Given the description of an element on the screen output the (x, y) to click on. 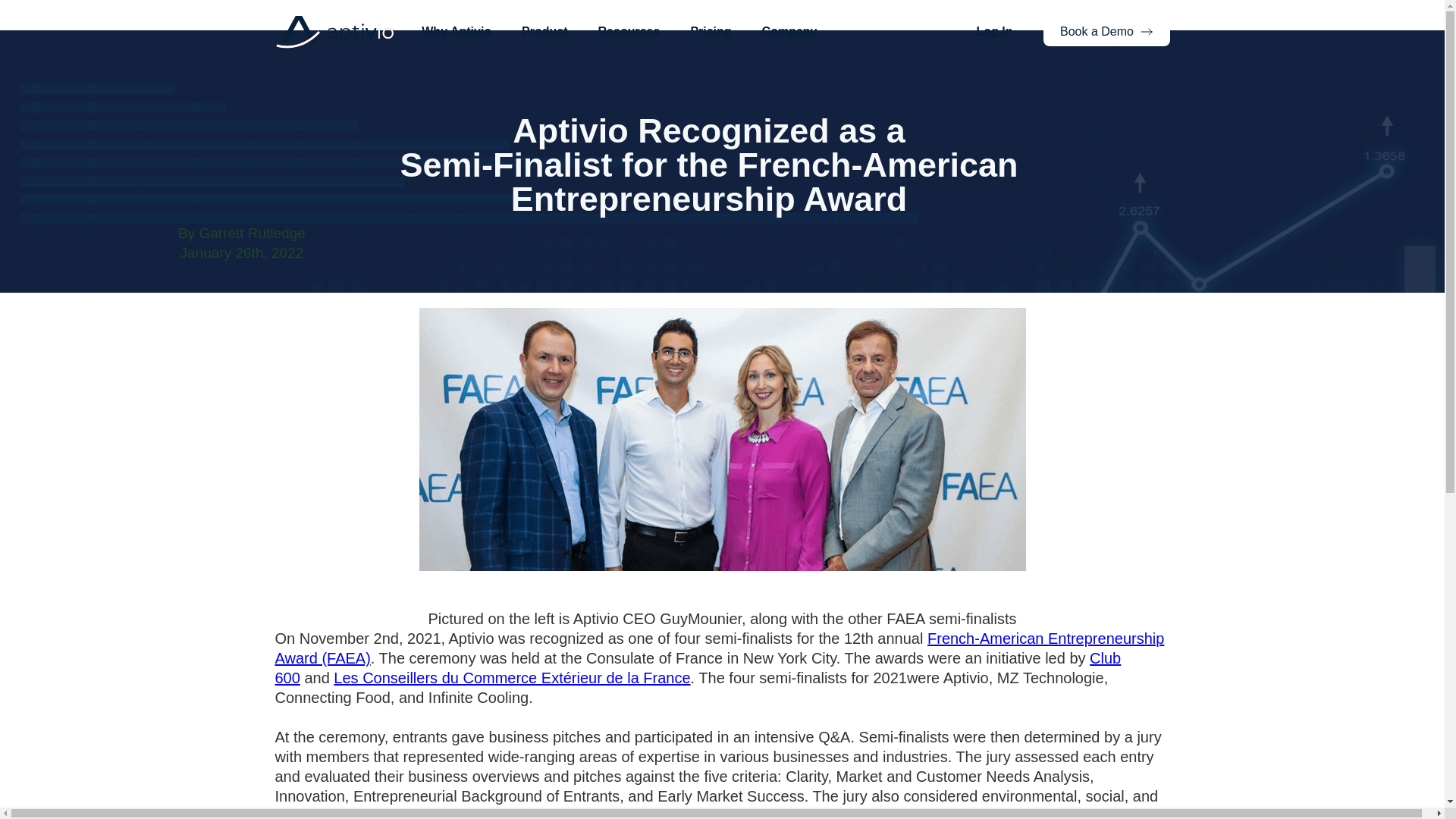
Why Aptivio (456, 31)
Log In (993, 31)
Pricing (710, 31)
Company (789, 31)
